Given the description of an element on the screen output the (x, y) to click on. 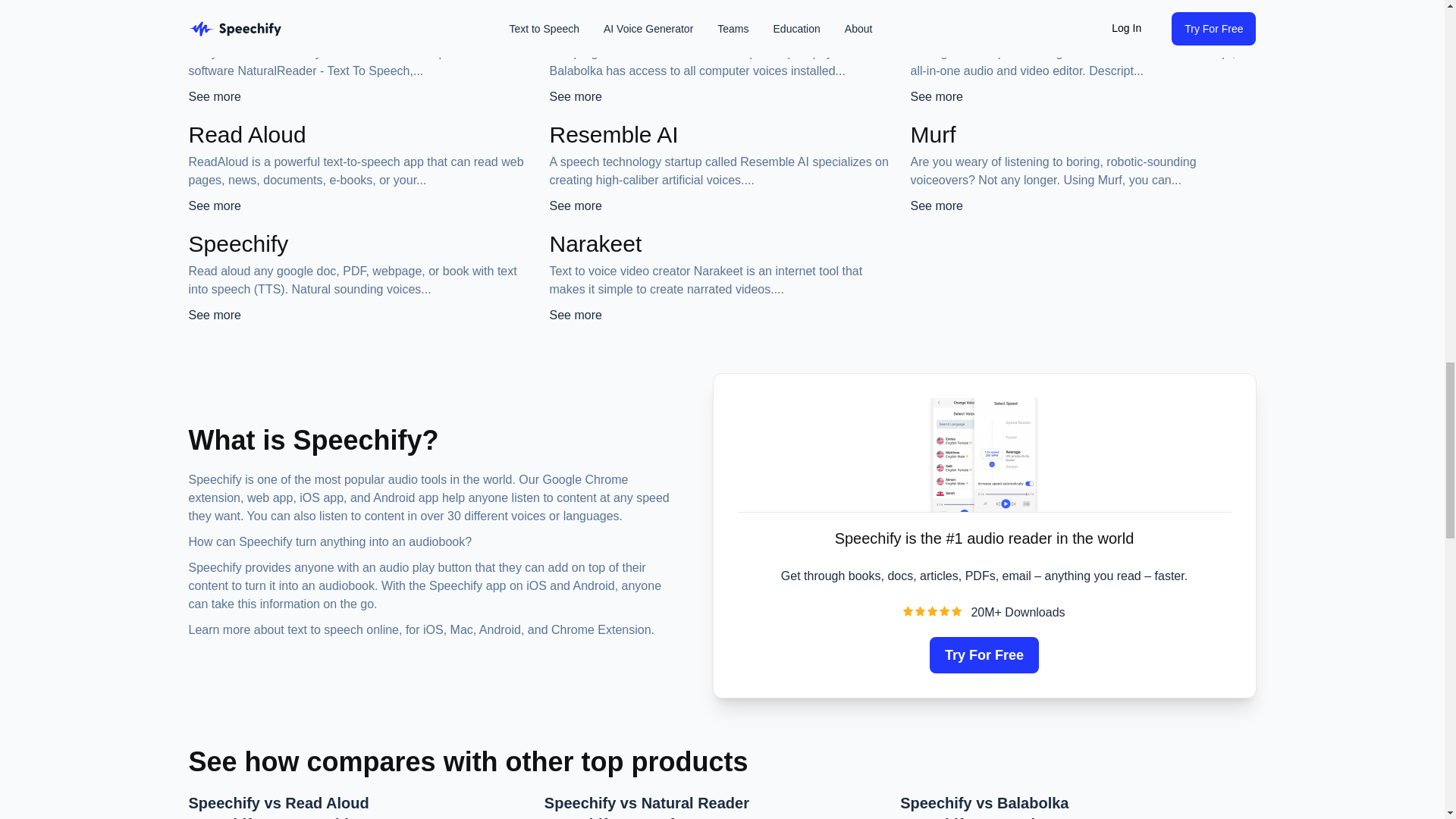
See more (213, 96)
See more (574, 96)
Balabolka (598, 25)
Natural Reader (264, 25)
